Given the description of an element on the screen output the (x, y) to click on. 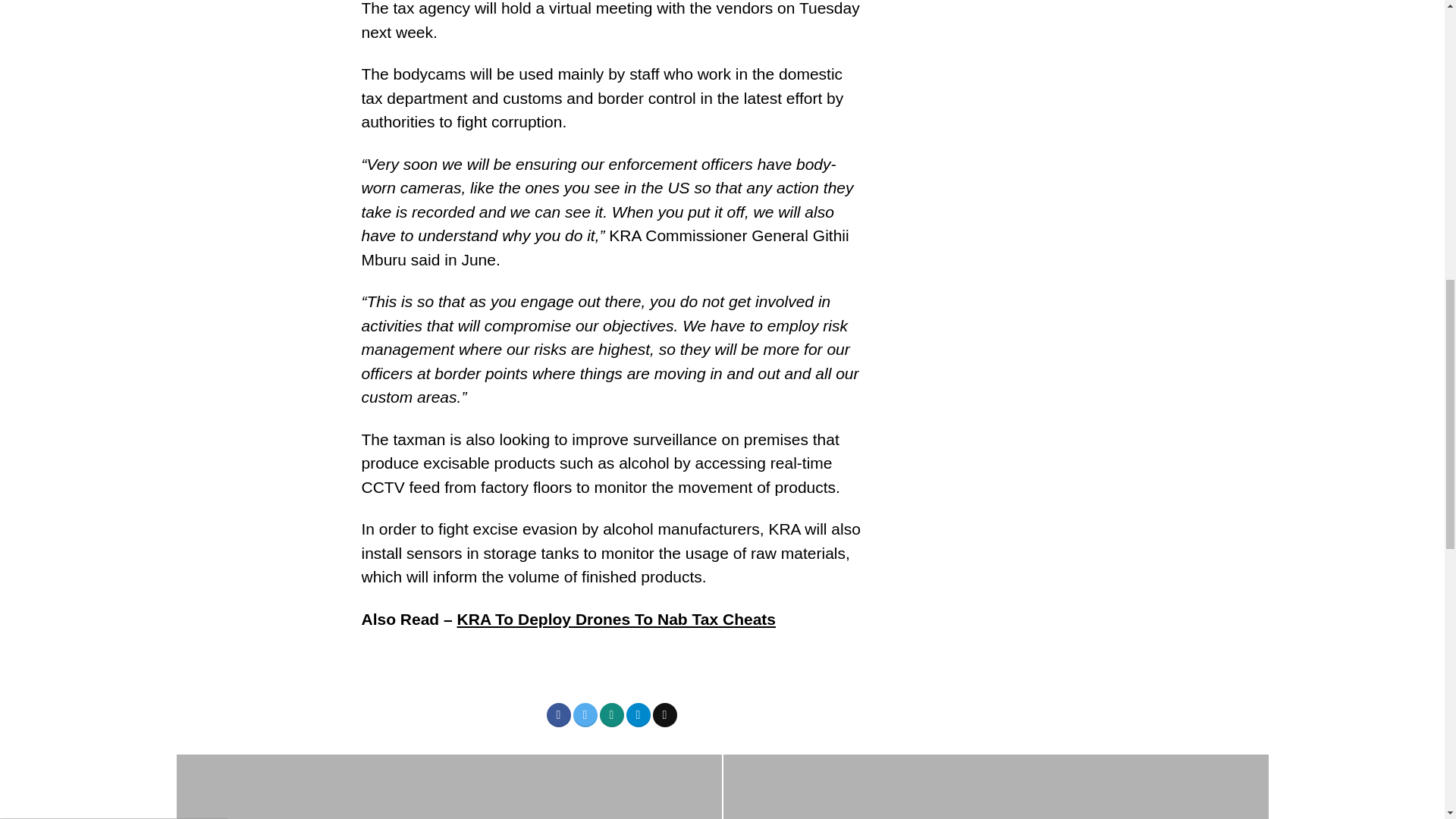
KRA To Deploy Drones To Nab Tax Cheats (616, 619)
